Given the description of an element on the screen output the (x, y) to click on. 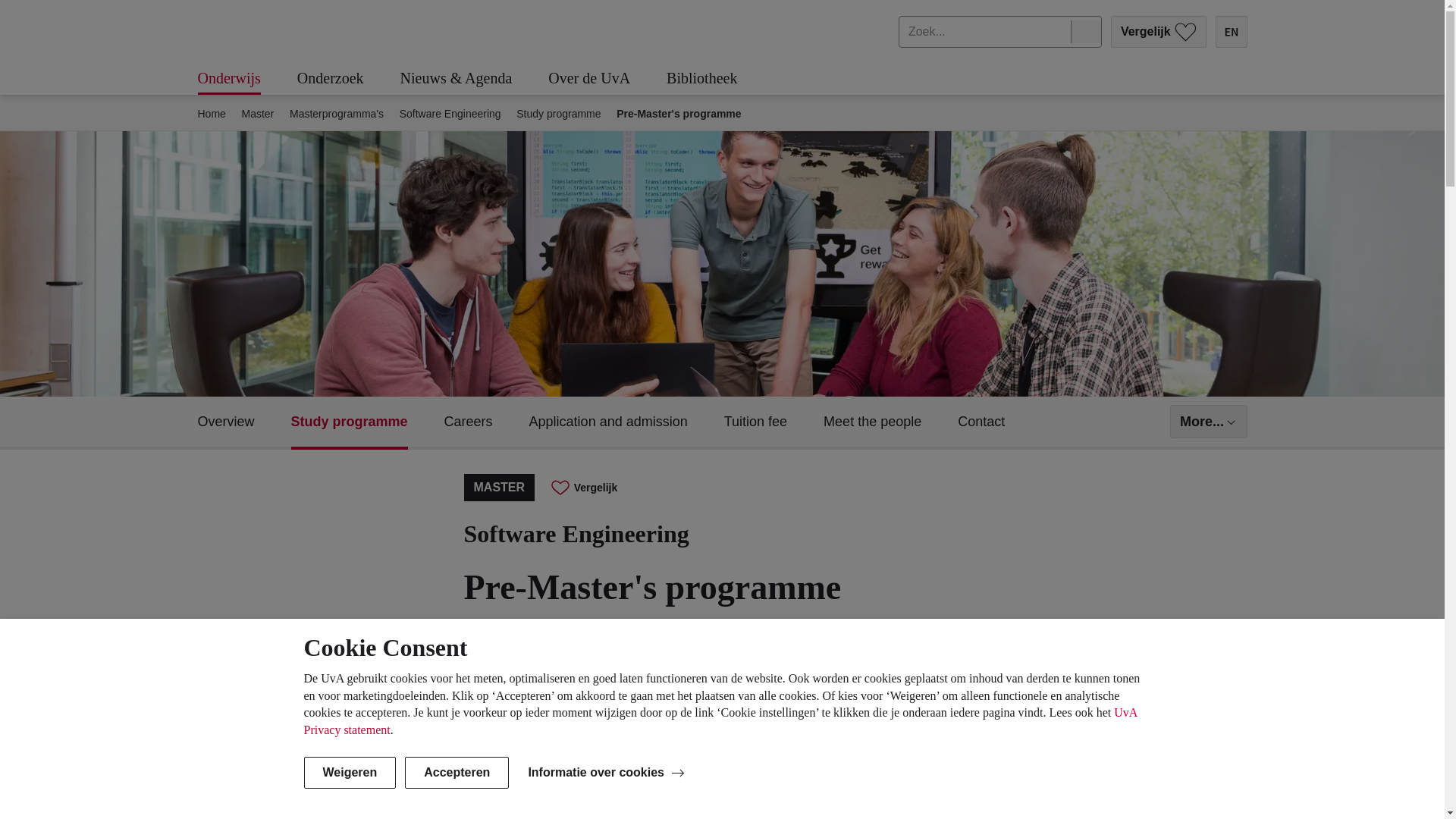
Over de UvA (607, 79)
Zoeken (1085, 31)
Home (210, 113)
Zoeken (1085, 31)
Zoeken (1085, 31)
Bibliotheek (719, 79)
Vergelijk (1158, 31)
Onderwijs (246, 79)
Onderzoek (348, 79)
